Given the description of an element on the screen output the (x, y) to click on. 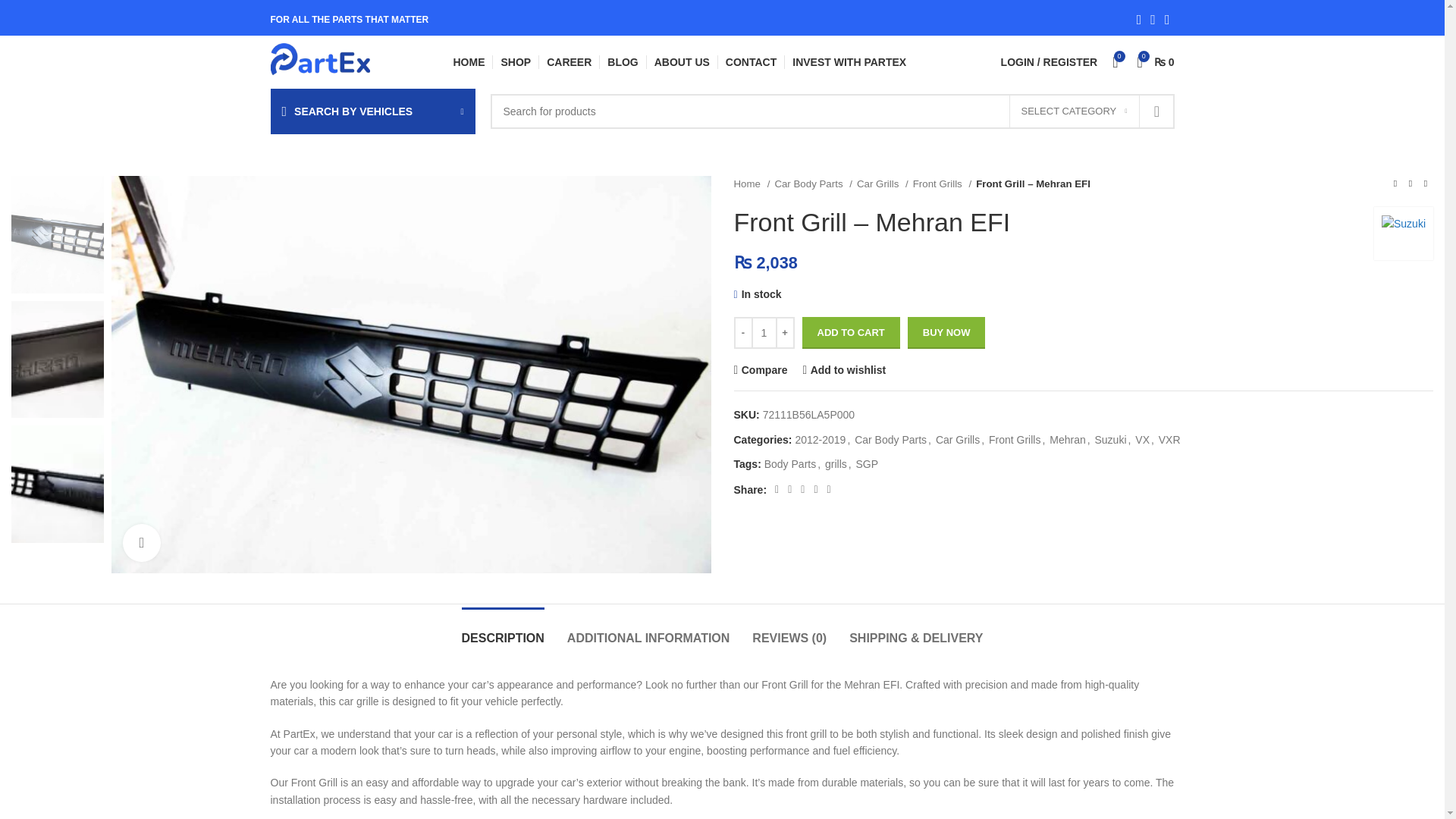
SHOP (515, 61)
SELECT CATEGORY (1073, 111)
Search for products (831, 111)
CAREER (569, 61)
BLOG (622, 61)
Suzuki (1403, 233)
HOME (468, 61)
ABOUT US (681, 61)
INVEST WITH PARTEX (848, 61)
CONTACT (750, 61)
Shopping cart (1155, 61)
My account (1048, 61)
